Given the description of an element on the screen output the (x, y) to click on. 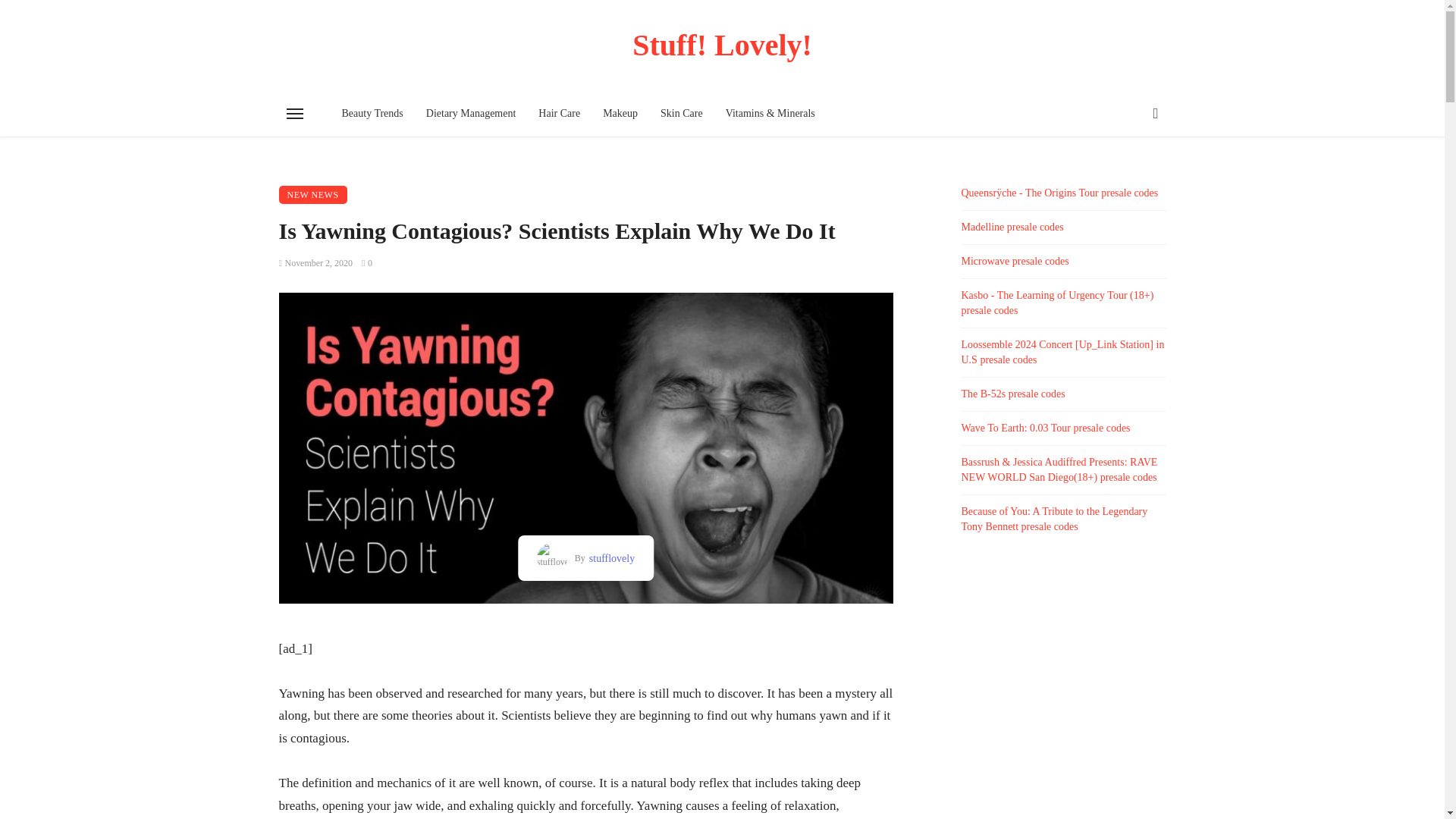
0 (366, 262)
Makeup (620, 113)
Stuff! Lovely! (722, 45)
Hair Care (559, 113)
stufflovely (609, 558)
Posts by stufflovely (609, 558)
NEW NEWS (313, 194)
November 2, 2020 at 1:16 am (316, 262)
Dietary Management (470, 113)
0 Comments (366, 262)
Skin Care (681, 113)
Beauty Trends (372, 113)
